Given the description of an element on the screen output the (x, y) to click on. 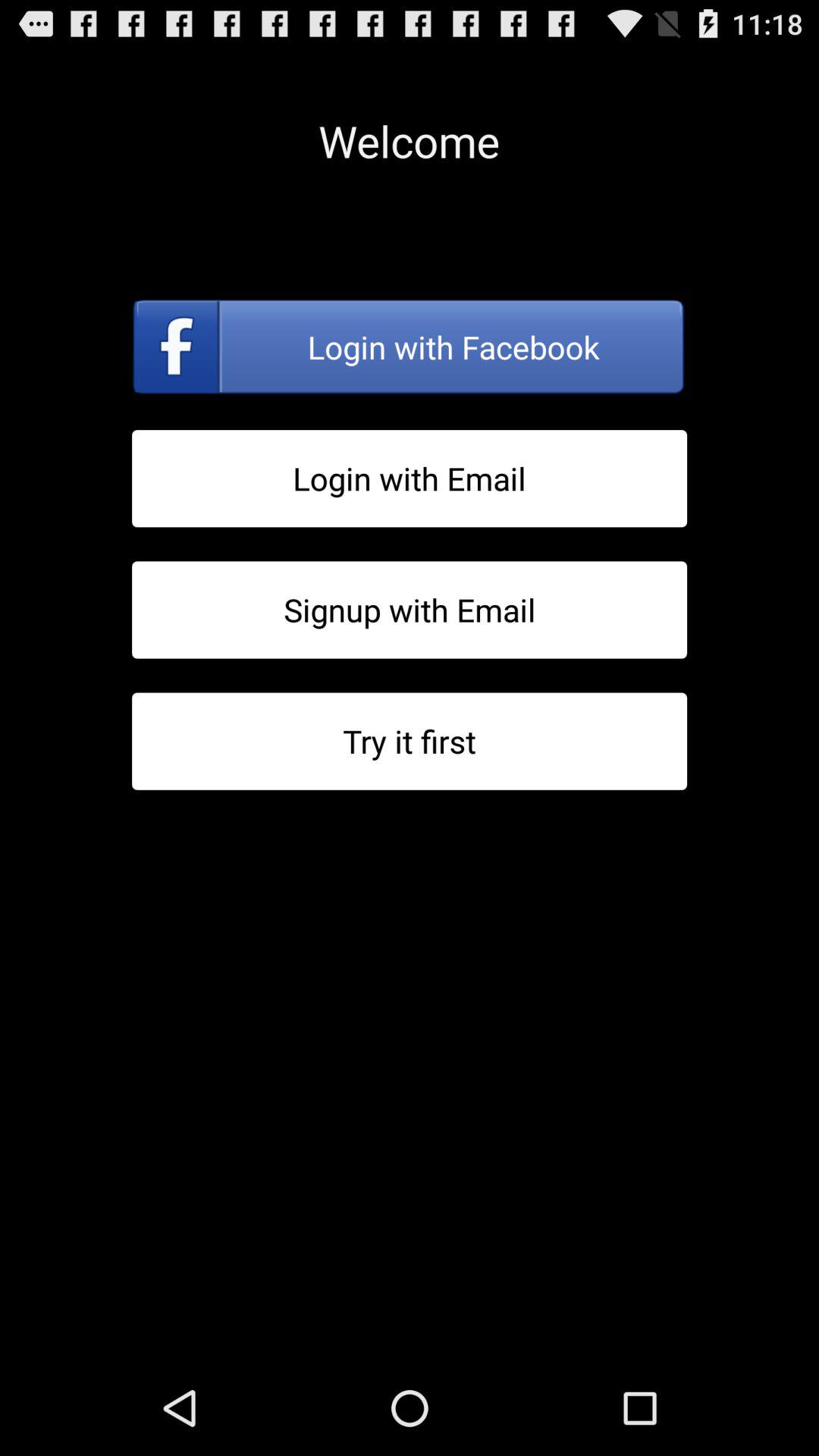
try it before signing up (409, 741)
